Given the description of an element on the screen output the (x, y) to click on. 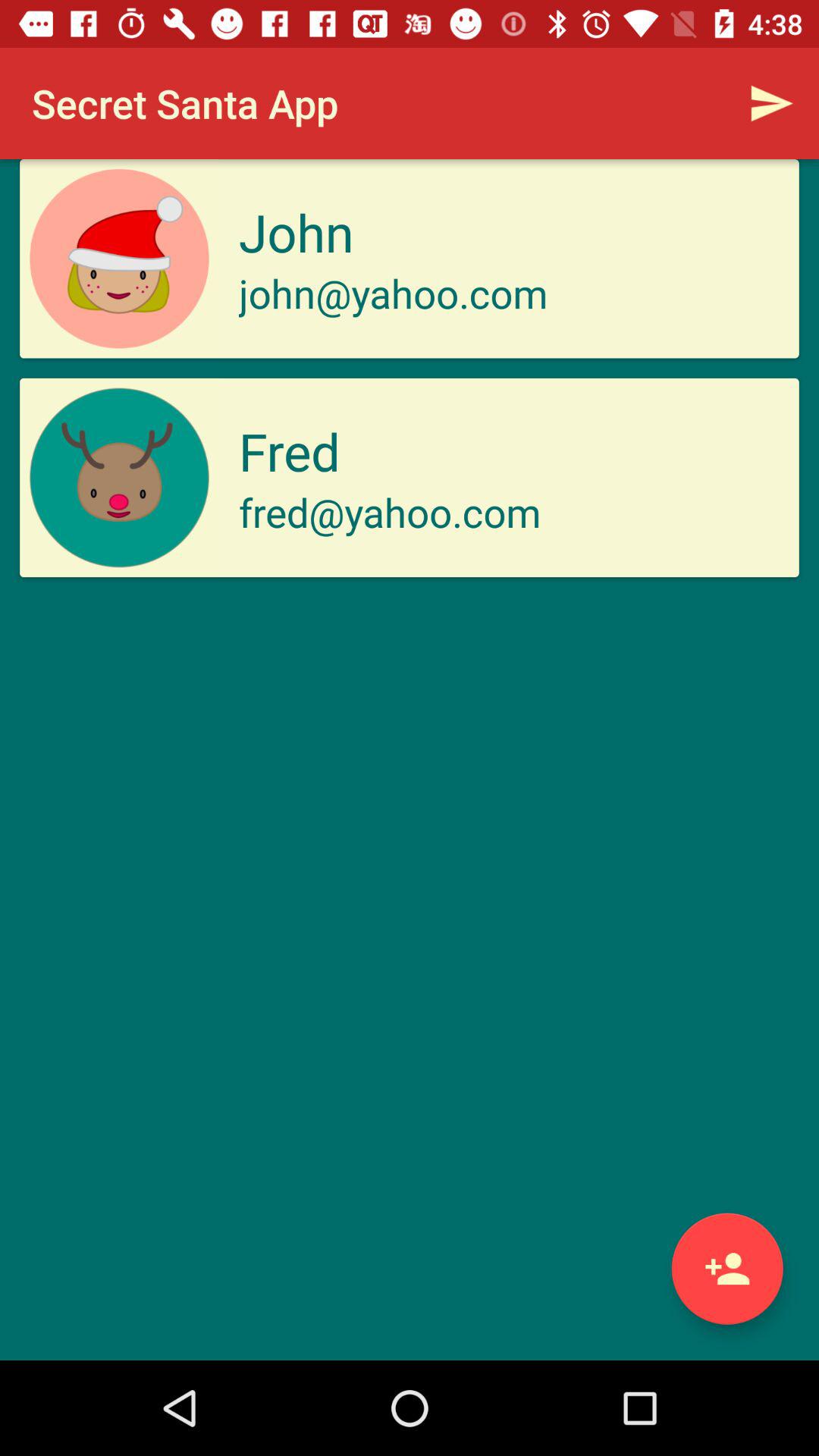
add a friend (727, 1268)
